Given the description of an element on the screen output the (x, y) to click on. 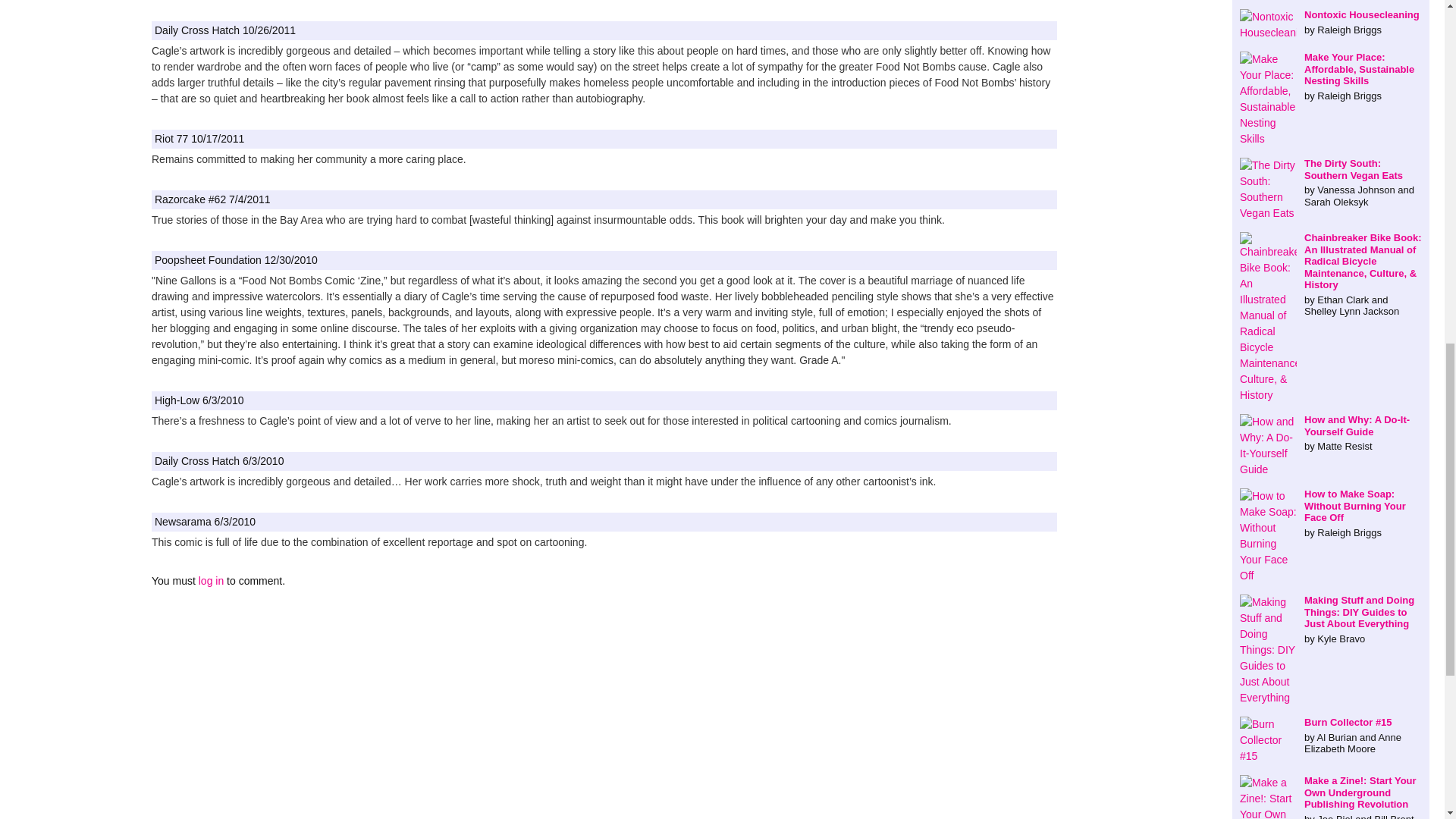
log in (211, 580)
How to Make Soap: Without Burning Your Face Off (1331, 513)
The Dirty South: Southern Vegan Eats (1331, 183)
Make Your Place: Affordable, Sustainable Nesting Skills (1331, 76)
How and Why: A Do-It-Yourself Guide (1331, 433)
Nontoxic Housecleaning (1331, 22)
